Given the description of an element on the screen output the (x, y) to click on. 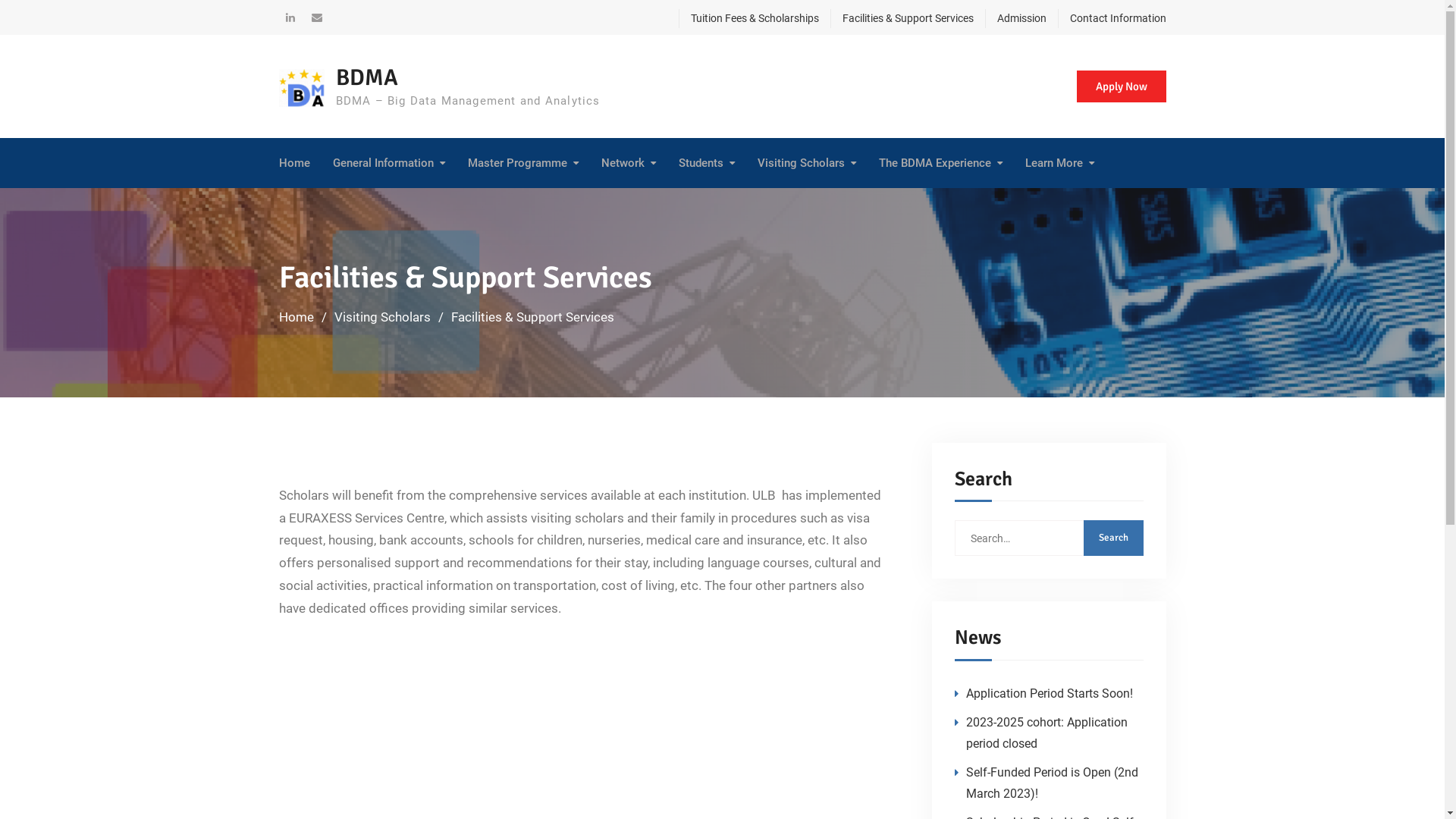
Admission Element type: text (1014, 18)
Useful Links Element type: text (1098, 203)
Tuition Fees & Scholarships Element type: text (747, 18)
European Ambassadors Element type: text (1123, 203)
Contact Information Element type: text (1111, 18)
Home Element type: text (296, 316)
Legal Notice Element type: text (405, 203)
Email Element type: text (315, 17)
Application Period Starts Soon! Element type: text (1049, 693)
Apply Now Element type: text (1121, 85)
Home Element type: text (294, 162)
FAQ Element type: text (1098, 203)
Ambassadors Programme Element type: text (951, 213)
Specialization Selection Element type: text (540, 203)
Search Element type: text (1112, 537)
Master Programme Element type: text (522, 162)
Discover Our Network Element type: text (674, 203)
LinkedIn Element type: text (290, 17)
Learn More Element type: text (1059, 162)
Facilities & Support Services Element type: text (751, 213)
Search for: Element type: hover (1047, 537)
Contact Information Element type: text (674, 203)
Self-Funded Period is Open (2nd March 2023)! Element type: text (1052, 782)
2023-2025 cohort: Application period closed Element type: text (1046, 732)
BDMA Expected Profiles & Pre-Requisites Element type: text (751, 213)
Administrative Staff Element type: text (845, 203)
Course Content Element type: text (540, 203)
Programme Coordinators Element type: text (845, 203)
Visiting Scholars Element type: text (381, 316)
The BDMA Experience Element type: text (939, 162)
Facilities & Support Services Element type: text (830, 213)
Visiting Scholars Element type: text (805, 162)
Facilities & Support Services Element type: text (900, 18)
Students Element type: text (705, 162)
Admission Element type: text (751, 203)
What Is Erasmus+? Element type: text (405, 203)
BDMA Element type: text (366, 77)
Why Join BDMA ? Element type: text (830, 203)
General Information Element type: text (388, 162)
Network Element type: text (627, 162)
Course Structure / Mobility Scheme Element type: text (540, 213)
